Given the description of an element on the screen output the (x, y) to click on. 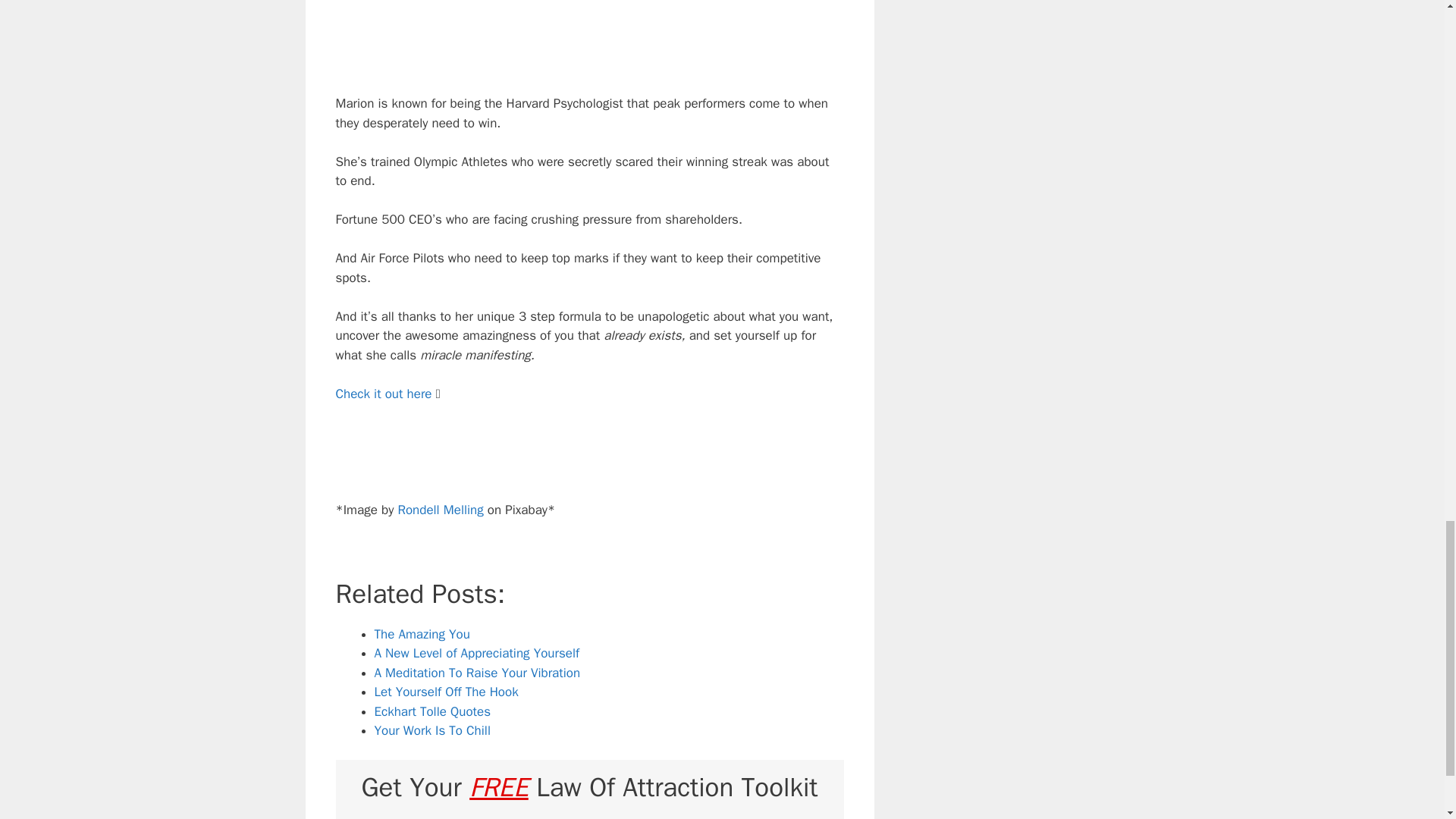
Eckhart Tolle Quotes (432, 711)
Check it out here  (384, 393)
Rondell Melling (440, 509)
A Meditation To Raise Your Vibration (477, 672)
Let Yourself Off The Hook (446, 691)
Your Work Is To Chill (432, 730)
The Amazing You (422, 634)
A New Level of Appreciating Yourself (476, 652)
